Given the description of an element on the screen output the (x, y) to click on. 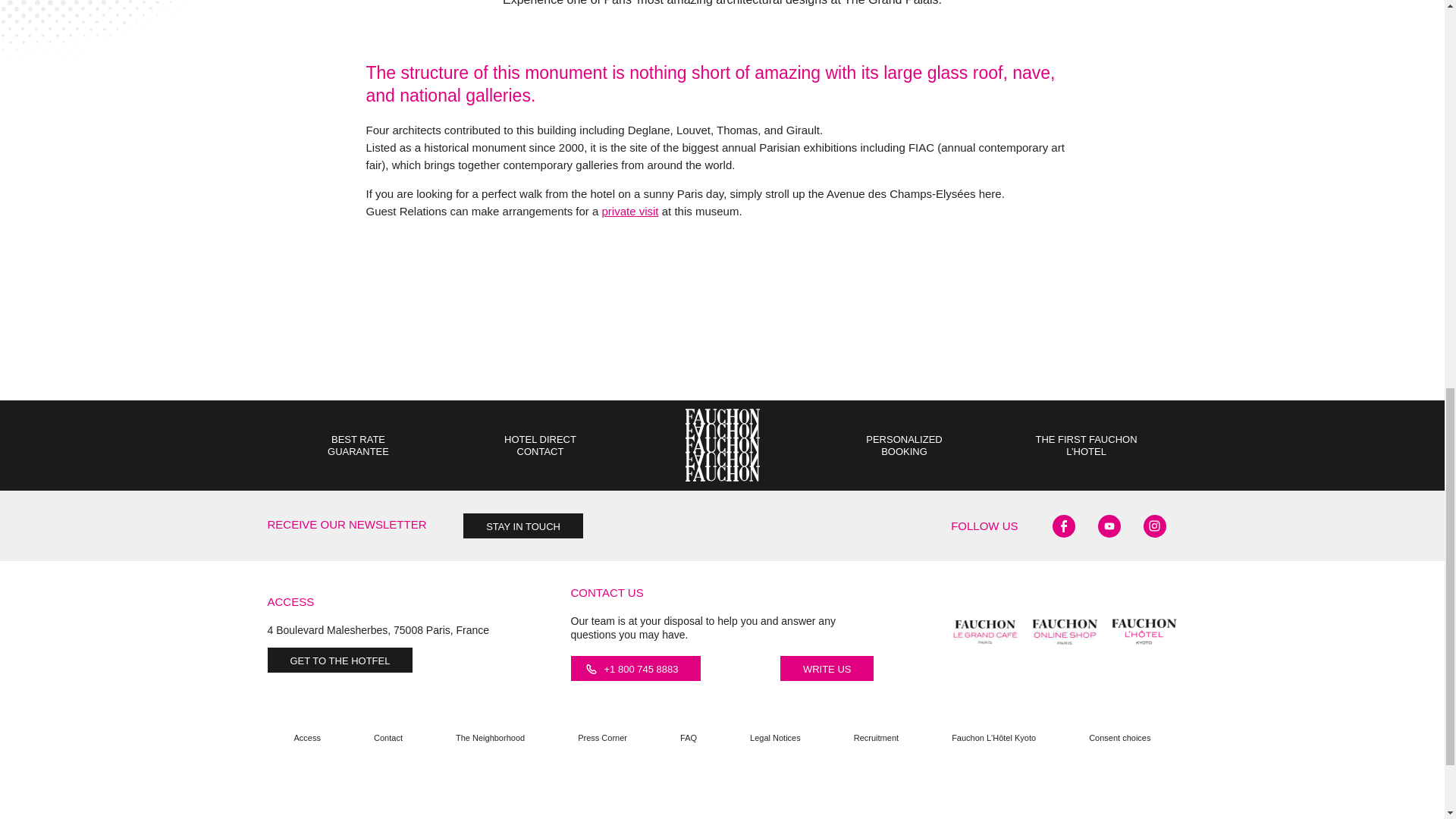
BEST RATE GUARANTEE (357, 451)
Fauchon-Online-Shop.jpg (1064, 631)
Follow us on Instagram (1154, 526)
Follow us on Twitter (1109, 526)
HOTEL DIRECT CONTACT (539, 451)
PERSONALIZED BOOKING (903, 451)
STAY IN TOUCH (523, 525)
Follow us on Facebook (1063, 526)
private visit (630, 210)
fauchon-le-grand-cafe.jpg (985, 631)
